Given the description of an element on the screen output the (x, y) to click on. 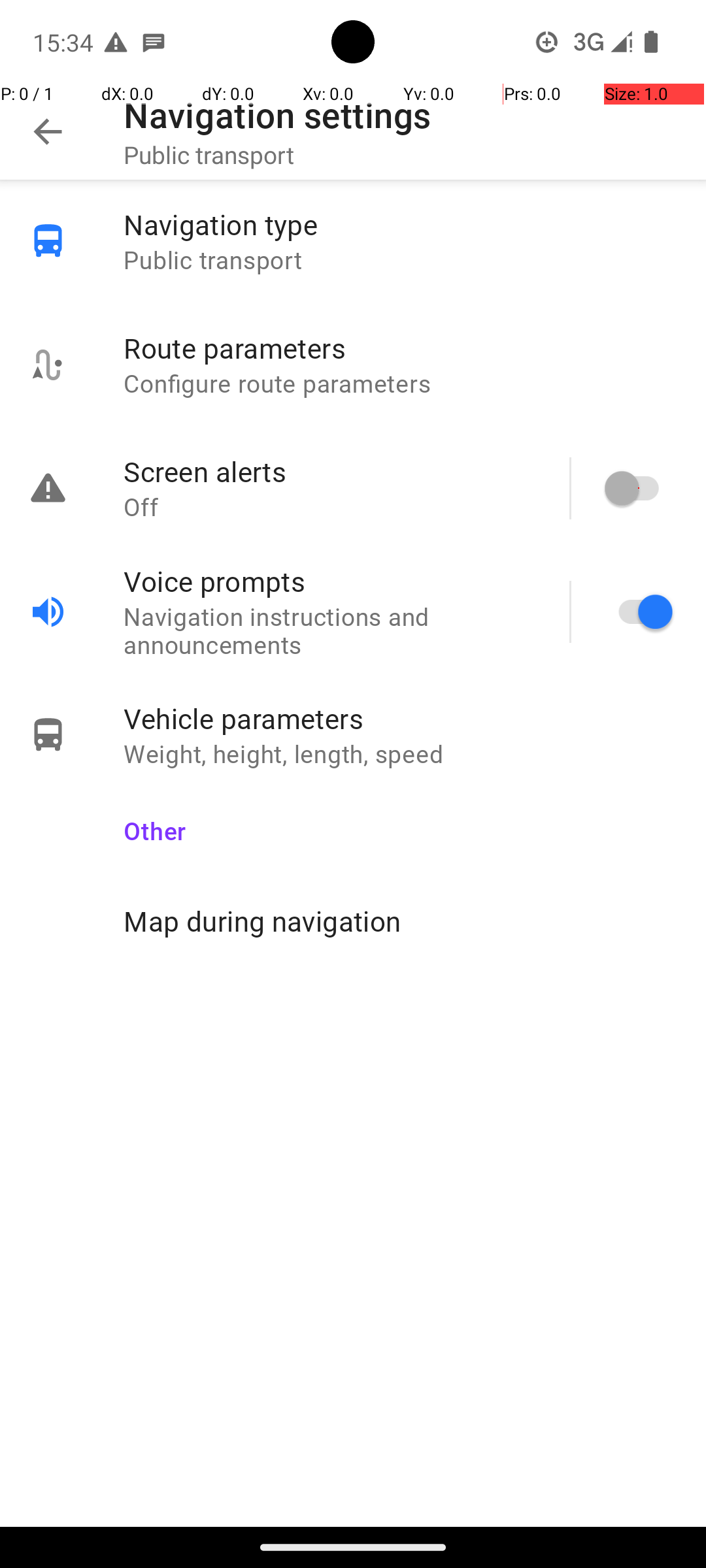
Navigation settings Element type: android.widget.TextView (277, 114)
Navigation type Element type: android.widget.TextView (400, 224)
Route parameters Element type: android.widget.TextView (400, 347)
Configure route parameters Element type: android.widget.TextView (400, 382)
Screen alerts Element type: android.widget.TextView (332, 471)
Off Element type: android.widget.TextView (332, 506)
Voice prompts Element type: android.widget.TextView (332, 580)
Navigation instructions and announcements Element type: android.widget.TextView (332, 630)
Vehicle parameters Element type: android.widget.TextView (400, 717)
Weight, height, length, speed Element type: android.widget.TextView (400, 753)
Other Element type: android.widget.TextView (400, 822)
Map during navigation Element type: android.widget.TextView (400, 920)
